Given the description of an element on the screen output the (x, y) to click on. 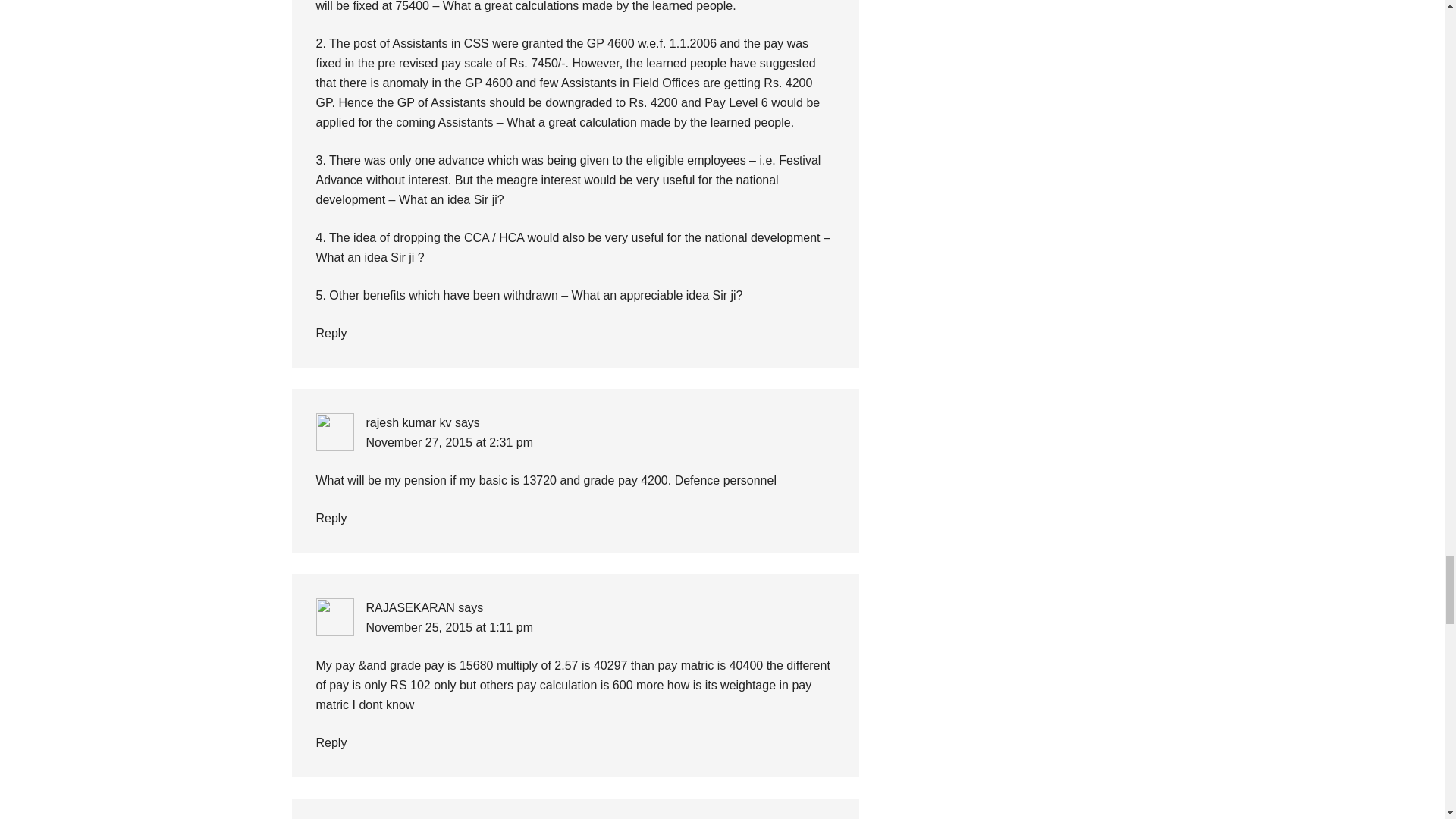
Reply (330, 517)
Reply (330, 742)
November 27, 2015 at 2:31 pm (448, 441)
Reply (330, 332)
November 25, 2015 at 1:11 pm (448, 626)
